Given the description of an element on the screen output the (x, y) to click on. 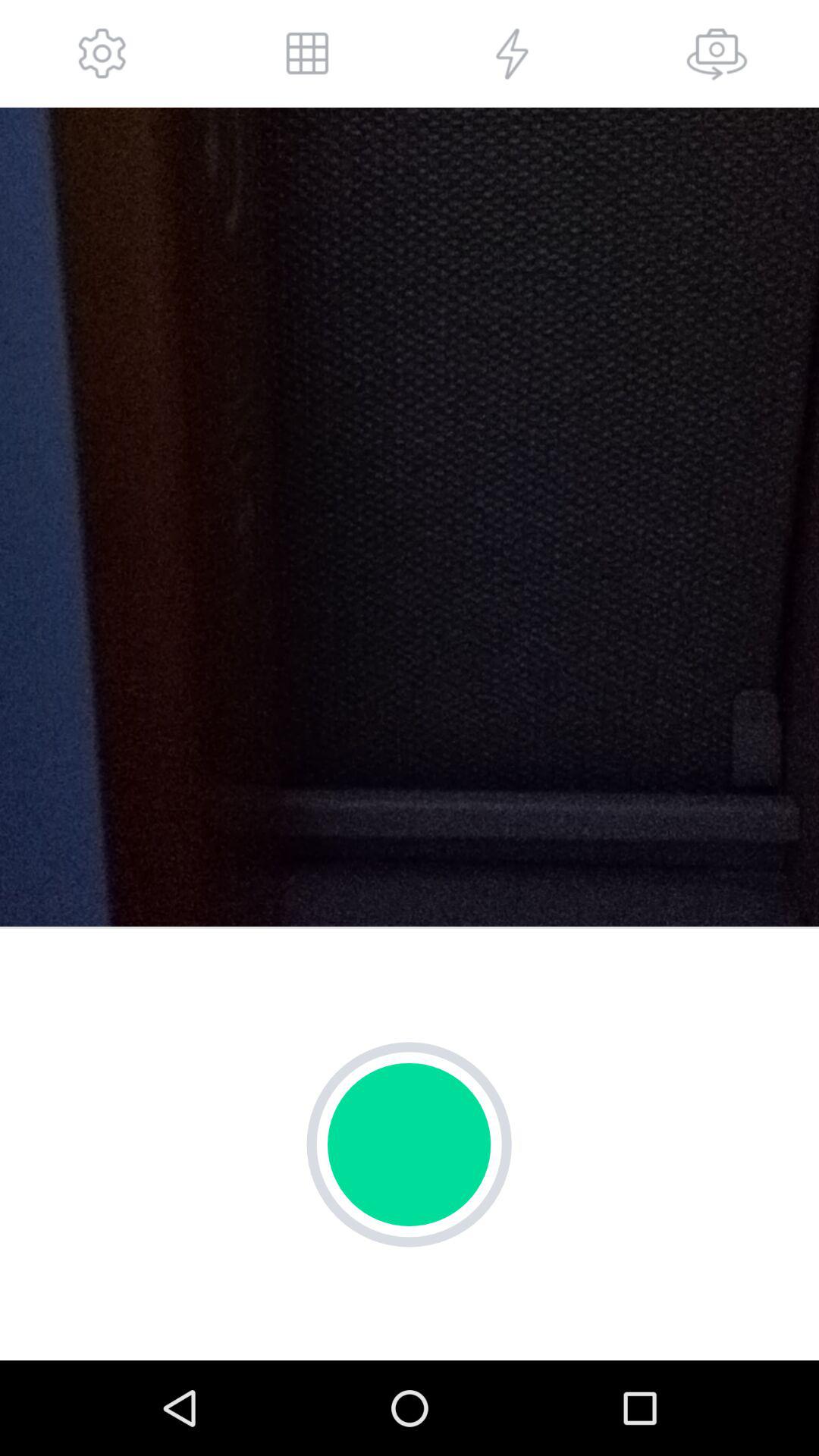
display grid (306, 53)
